Given the description of an element on the screen output the (x, y) to click on. 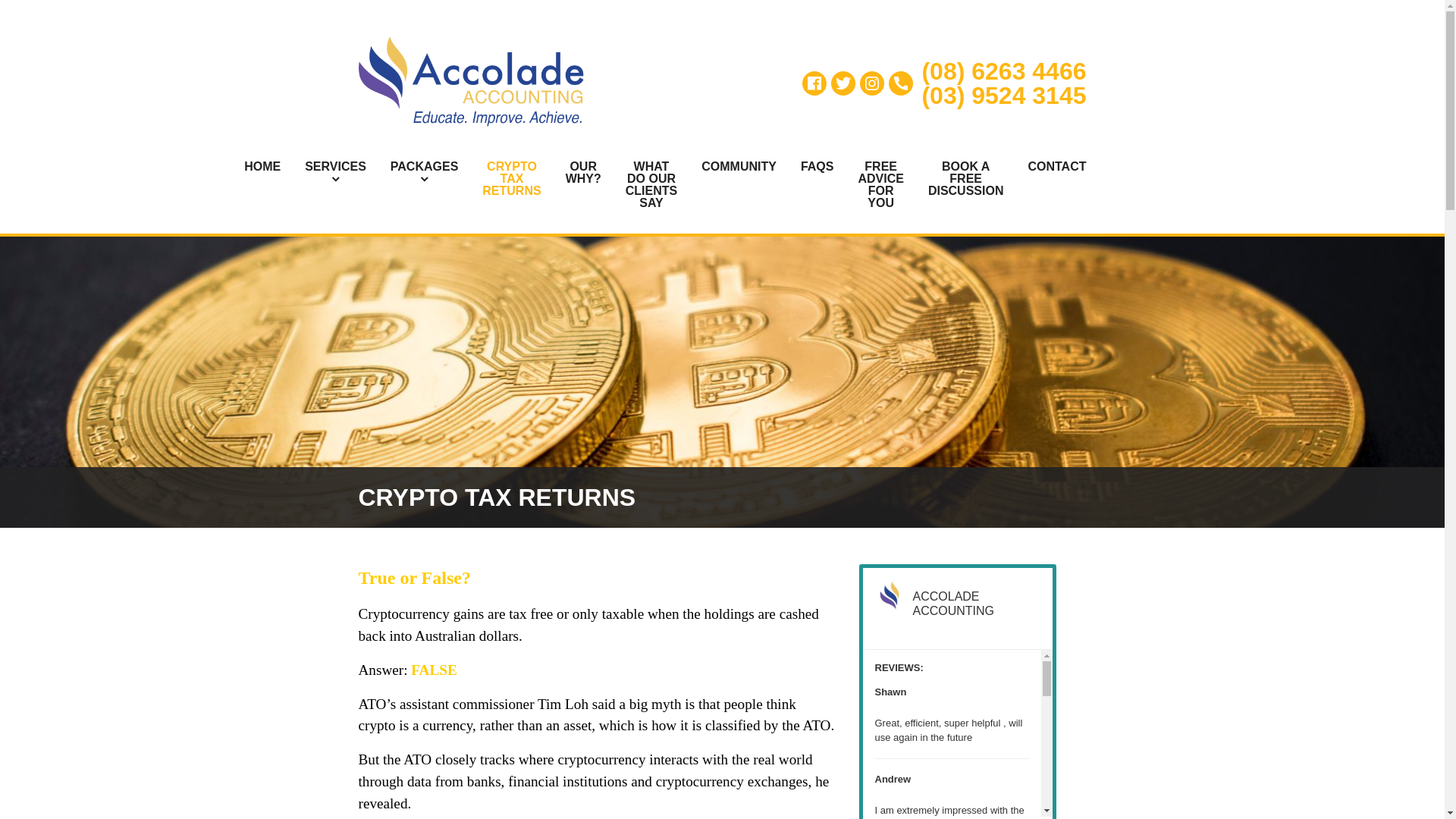
PACKAGES (412, 172)
FAQS (805, 166)
COMMUNITY (726, 166)
OUR WHY? (571, 172)
CRYPTO TAX RETURNS (499, 178)
WHAT DO OUR CLIENTS SAY (639, 184)
BOOK A FREE DISCUSSION (954, 178)
CONTACT (1044, 166)
FREE ADVICE FOR YOU (867, 184)
HOME (250, 166)
SERVICES (323, 172)
